Given the description of an element on the screen output the (x, y) to click on. 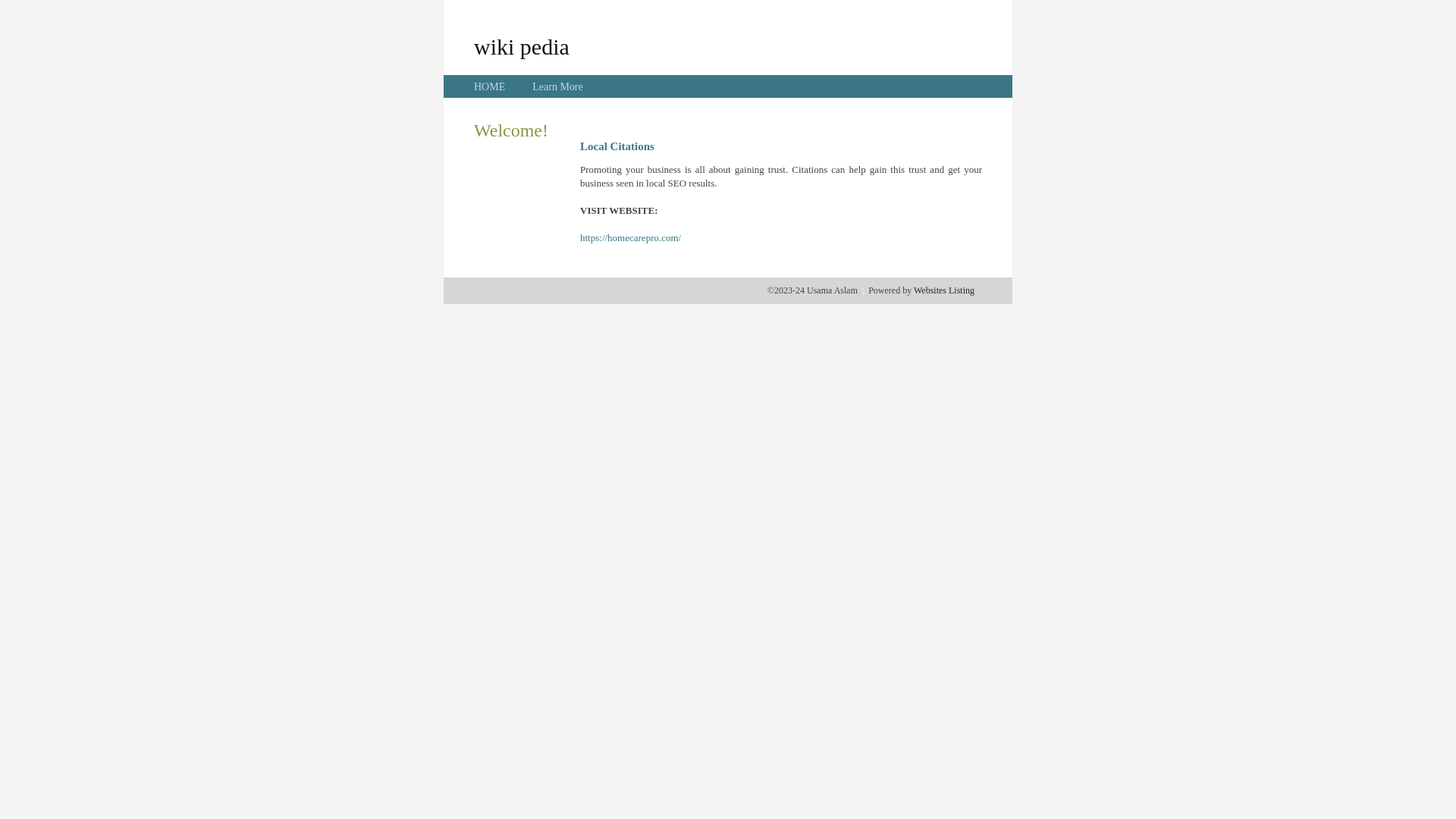
Learn More Element type: text (557, 86)
wiki pedia Element type: text (521, 46)
HOME Element type: text (489, 86)
https://homecarepro.com/ Element type: text (630, 237)
Websites Listing Element type: text (943, 290)
